Given the description of an element on the screen output the (x, y) to click on. 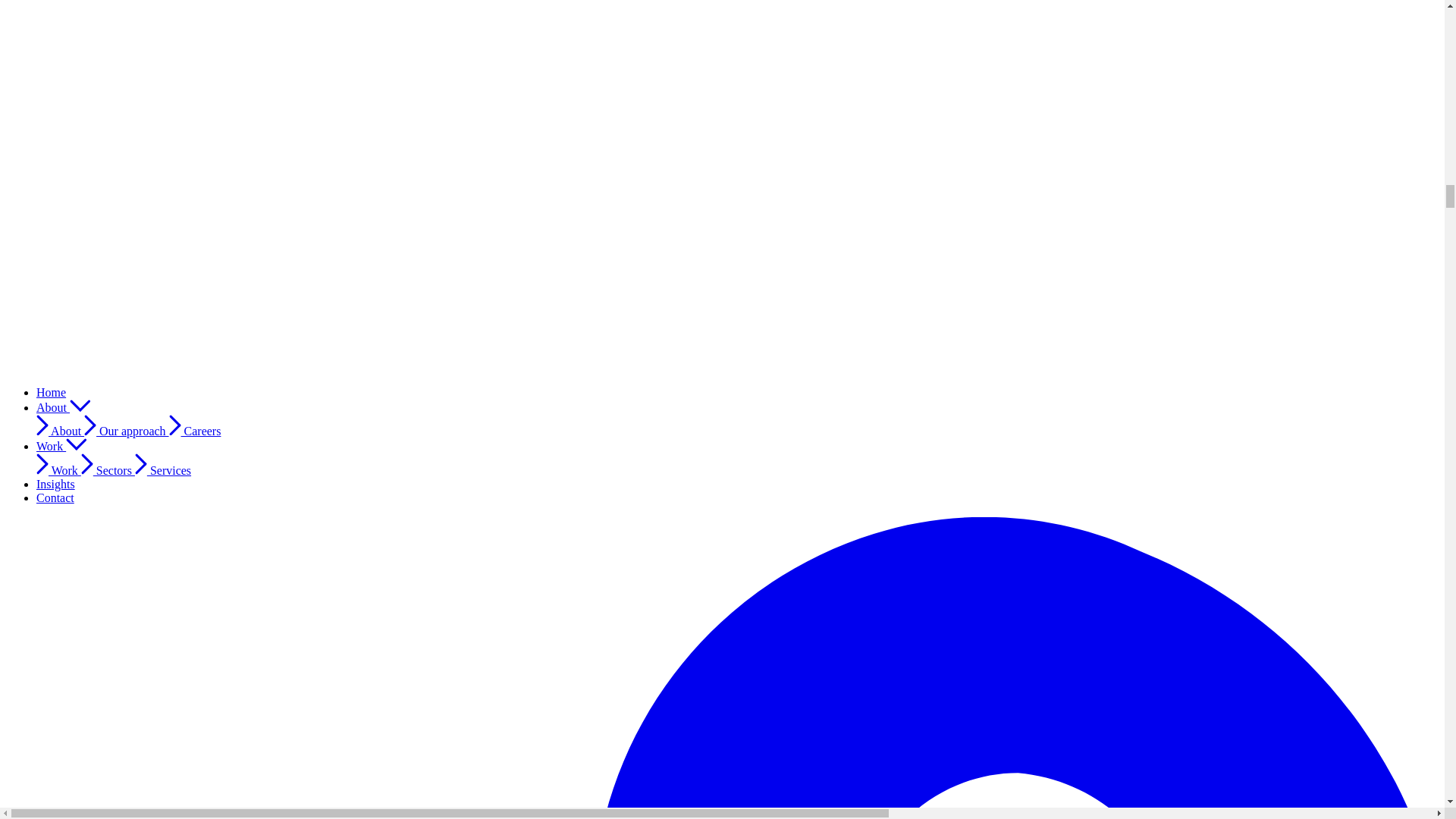
Careers (194, 431)
Work (58, 470)
Sectors (108, 470)
Our approach (126, 431)
About (63, 407)
Insights (55, 483)
Work (61, 445)
About (60, 431)
Home (50, 391)
Services (162, 470)
